Given the description of an element on the screen output the (x, y) to click on. 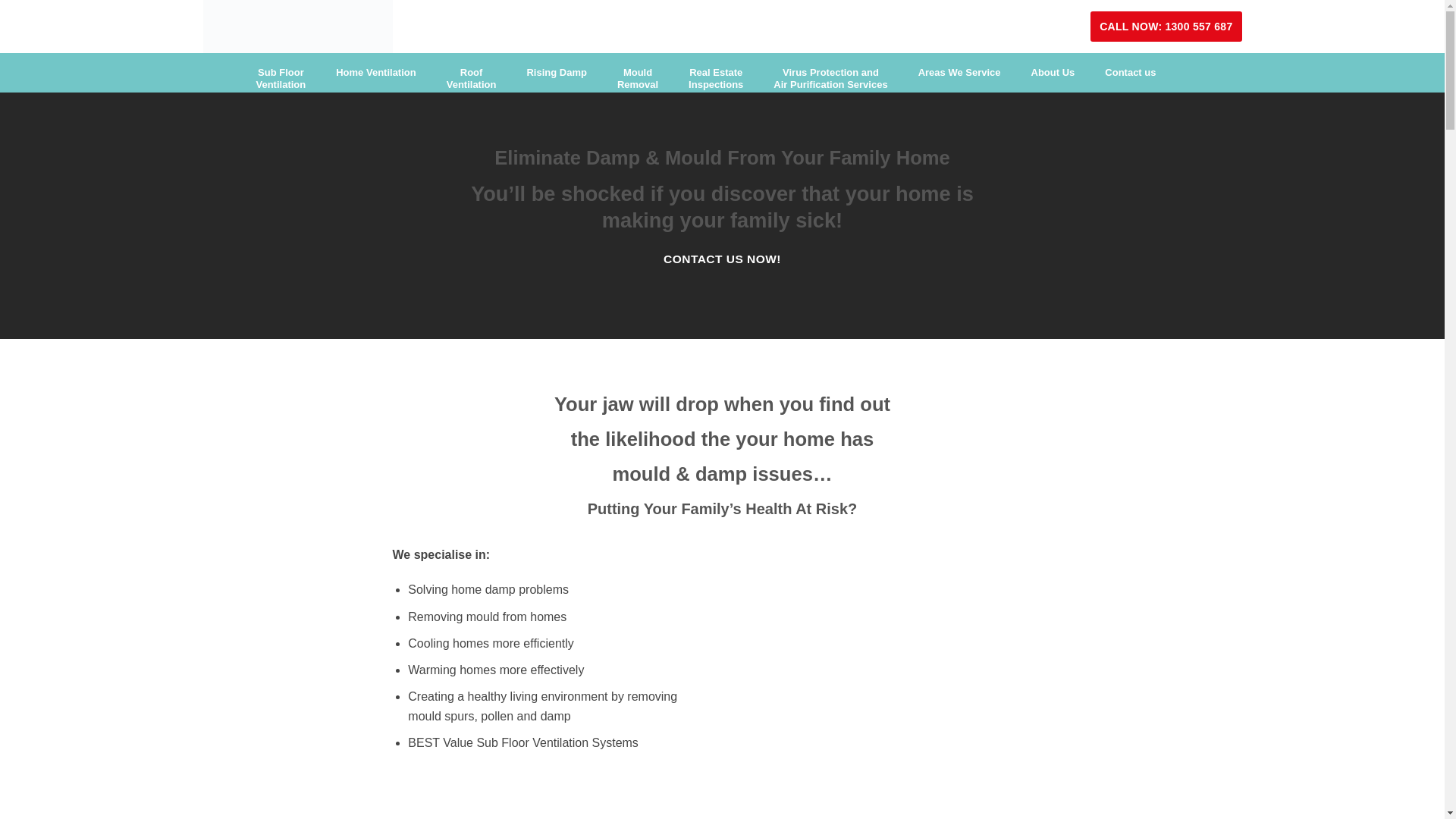
Virus Protection and
Air Purification Services Element type: text (829, 78)
Home Ventilation Element type: text (375, 72)
Sub Floor
Ventilation Element type: text (280, 78)
CONTACT US NOW! Element type: text (721, 258)
CALL NOW: 1300 557 687 Element type: text (1165, 26)
Mould
Removal Element type: text (637, 78)
Contact us Element type: text (1130, 72)
Rising Damp Element type: text (555, 72)
About Us Element type: text (1052, 72)
Real Estate
Inspections Element type: text (715, 78)
Doctor Damp underfloor ventilation for rising damp in homes Element type: hover (893, 624)
Areas We Service Element type: text (959, 72)
Roof
Ventilation Element type: text (471, 78)
